Given the description of an element on the screen output the (x, y) to click on. 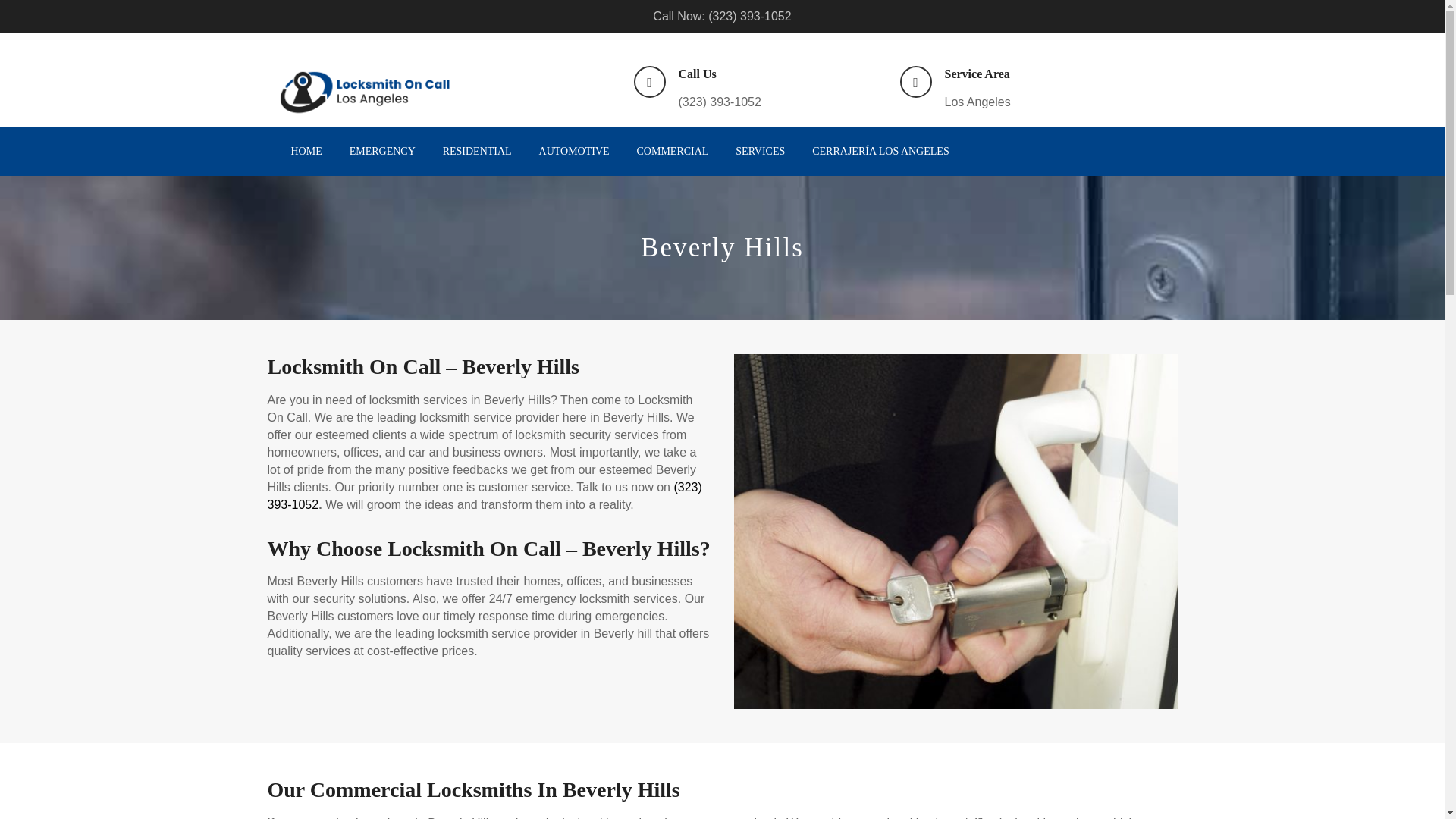
AUTOMOTIVE (574, 151)
Locksmith On Call Los Angeles (365, 92)
RESIDENTIAL (477, 151)
SERVICES (759, 151)
EMERGENCY (381, 151)
COMMERCIAL (673, 151)
